Given the description of an element on the screen output the (x, y) to click on. 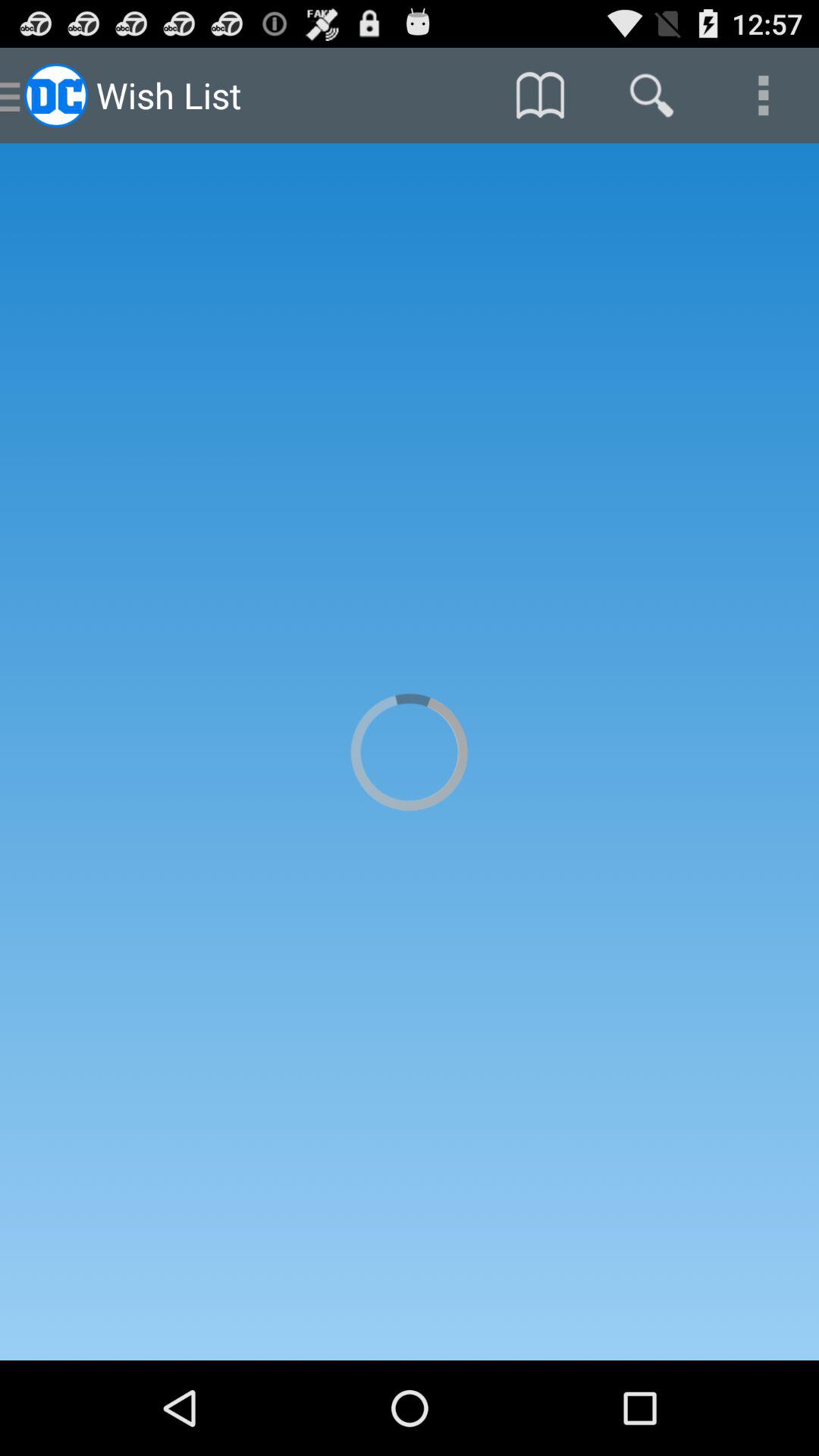
click the icon above view an item icon (763, 95)
